Given the description of an element on the screen output the (x, y) to click on. 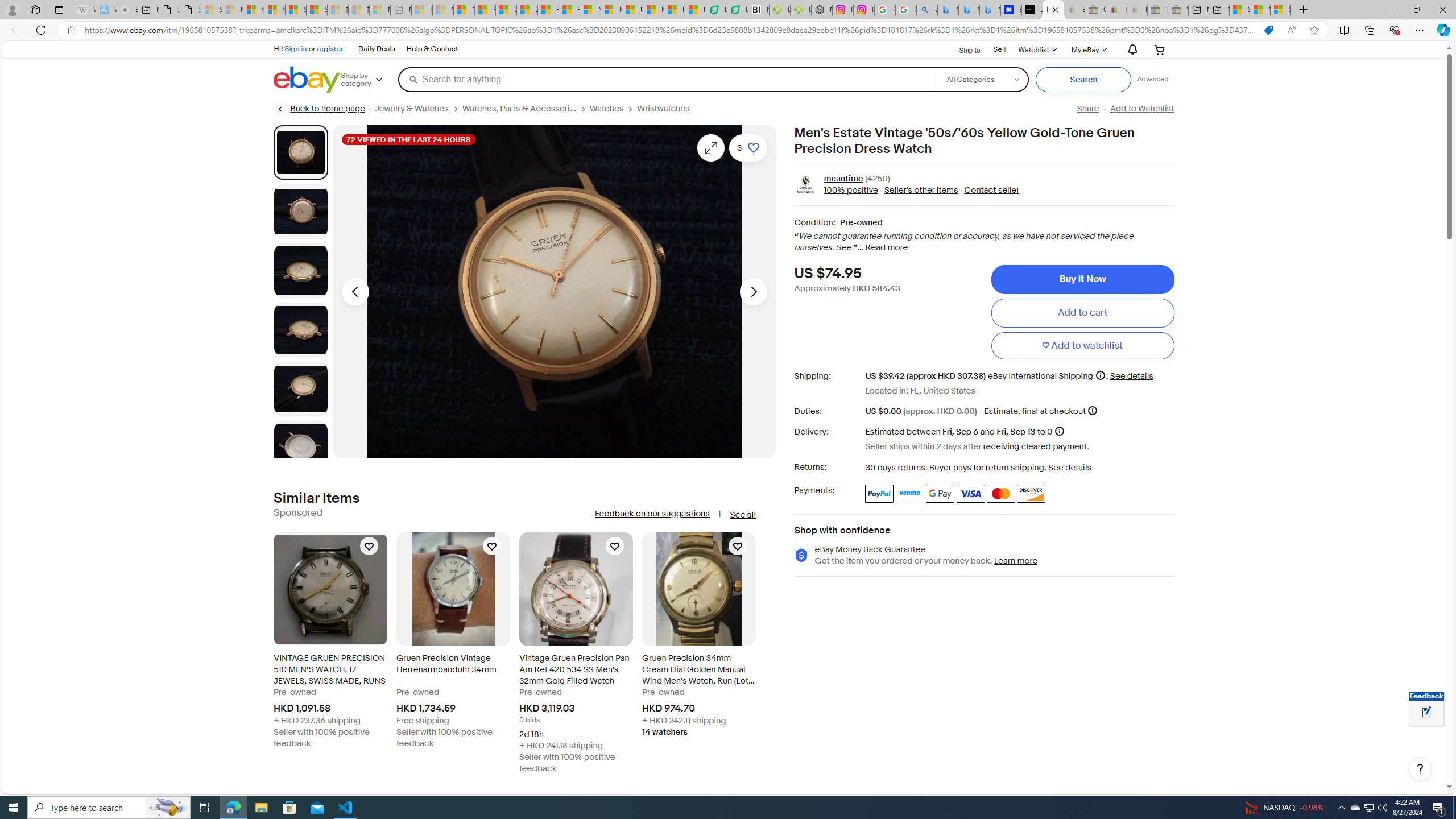
Leave feedback about your eBay ViewItem experience (1426, 713)
Sell (999, 49)
Buy It Now (1082, 279)
My eBay (1088, 49)
Add to watchlist (1082, 345)
Picture 5 of 8 (300, 388)
